Given the description of an element on the screen output the (x, y) to click on. 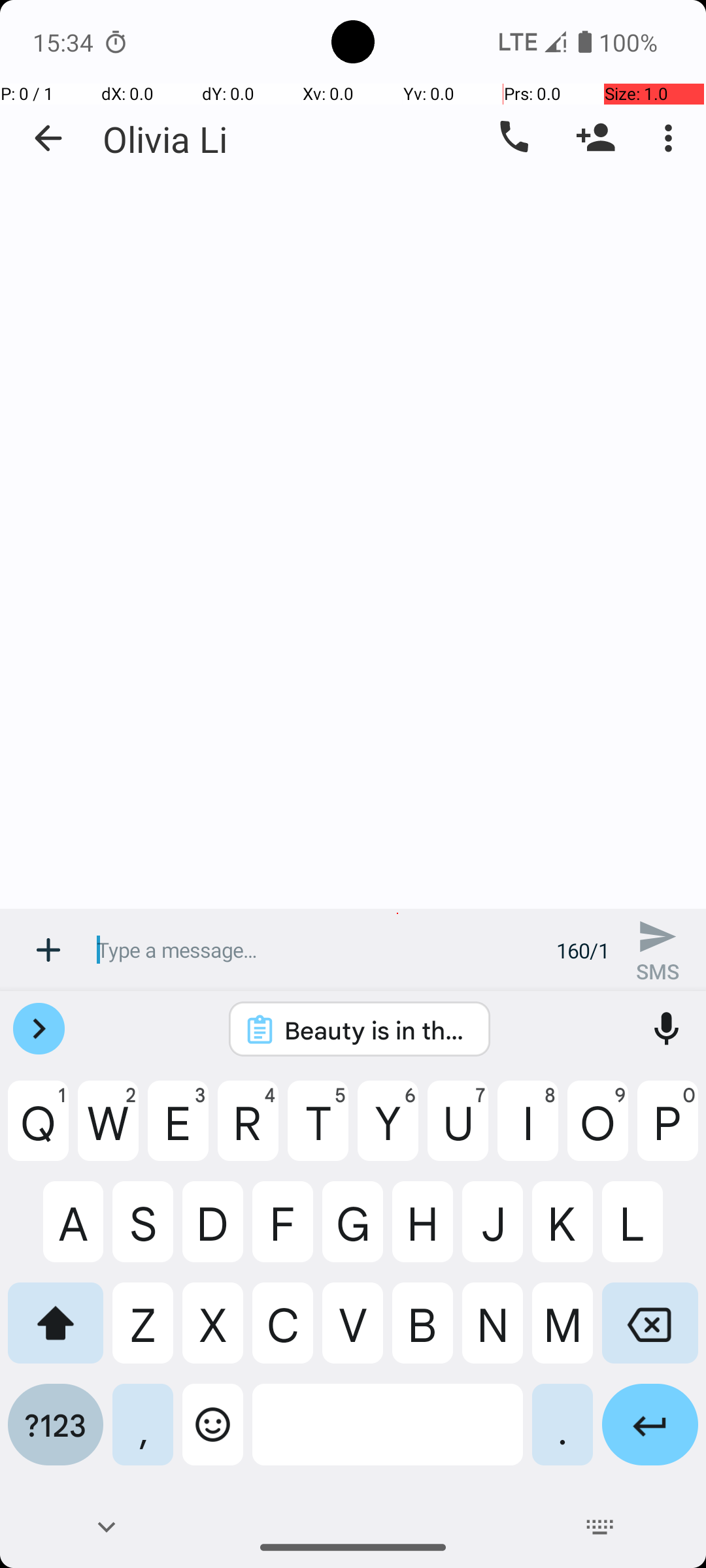
Olivia Li Element type: android.widget.TextView (164, 138)
